Given the description of an element on the screen output the (x, y) to click on. 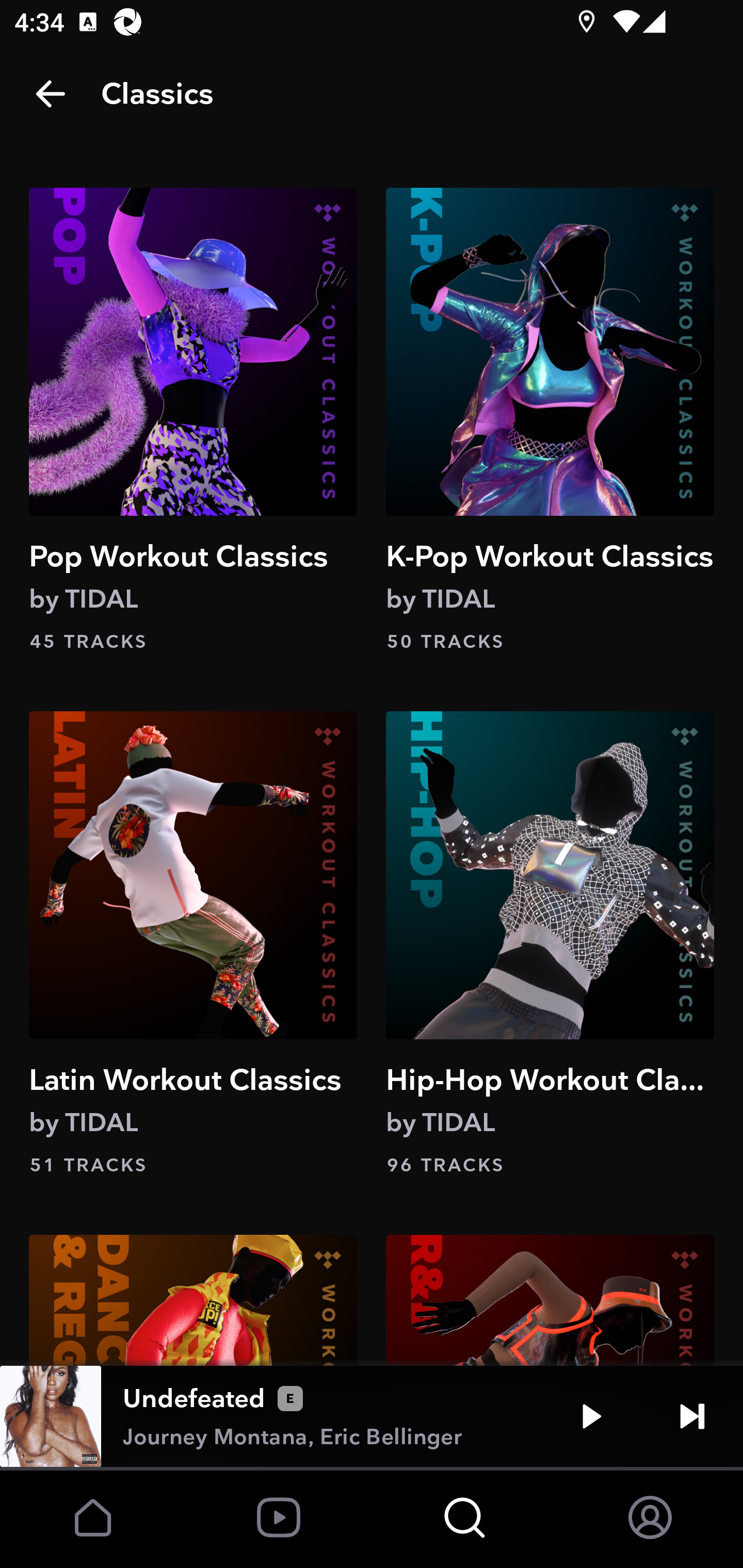
Pop Workout Classics by TIDAL 45 TRACKS (192, 420)
K-Pop Workout Classics by TIDAL 50 TRACKS (549, 420)
Latin Workout Classics by TIDAL 51 TRACKS (192, 944)
Hip-Hop Workout Classics by TIDAL 96 TRACKS (549, 944)
Undefeated    Journey Montana, Eric Bellinger Play (371, 1416)
Play (590, 1416)
